Given the description of an element on the screen output the (x, y) to click on. 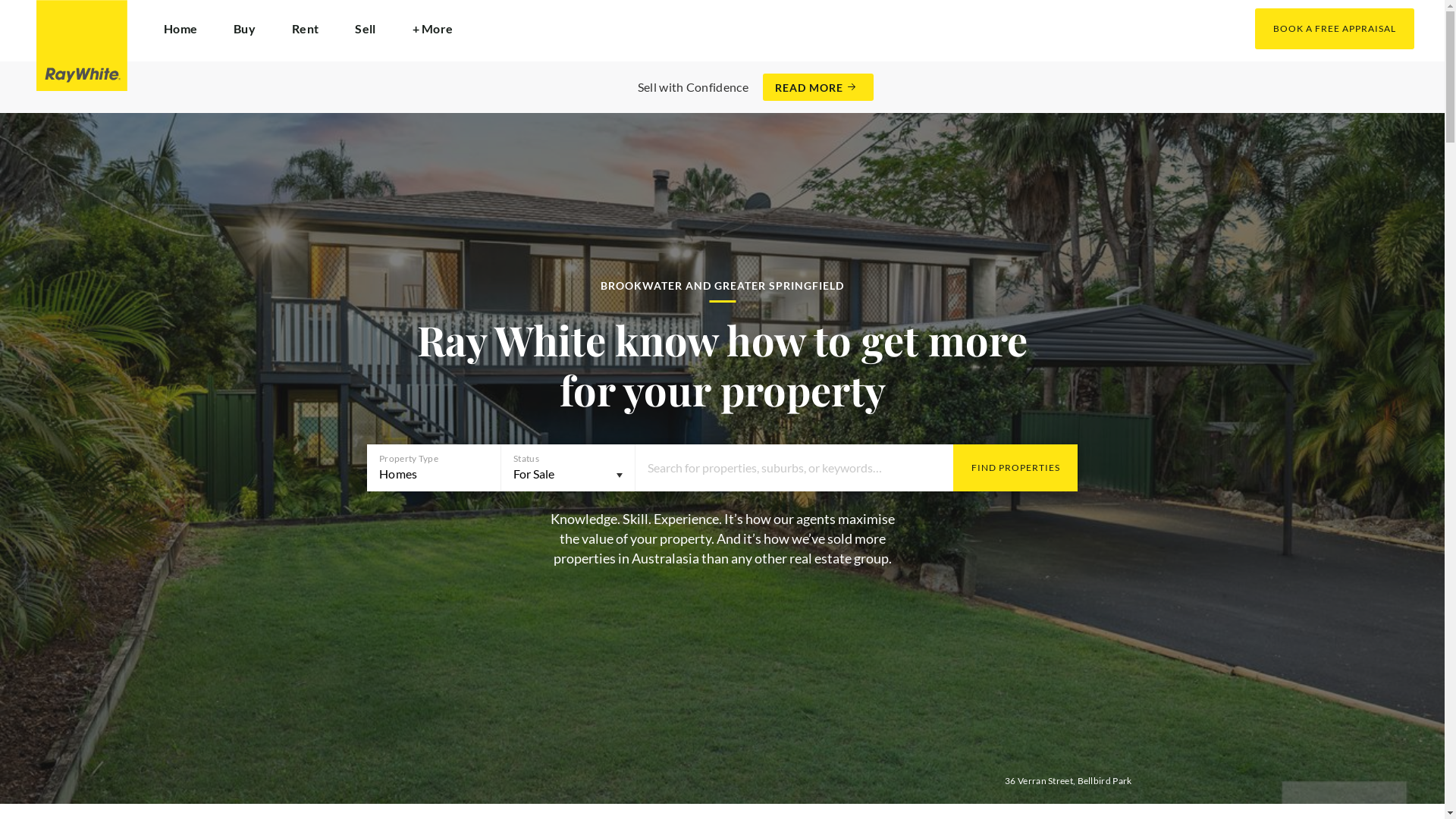
Home Element type: text (180, 28)
FIND PROPERTIES Element type: text (1015, 467)
READ MORE Element type: text (817, 86)
BOOK A FREE APPRAISAL Element type: text (1334, 28)
36 Verran Street, Bellbird Park Element type: text (1067, 780)
Ray White Brookwater and Greater Springfield Element type: text (81, 45)
